Given the description of an element on the screen output the (x, y) to click on. 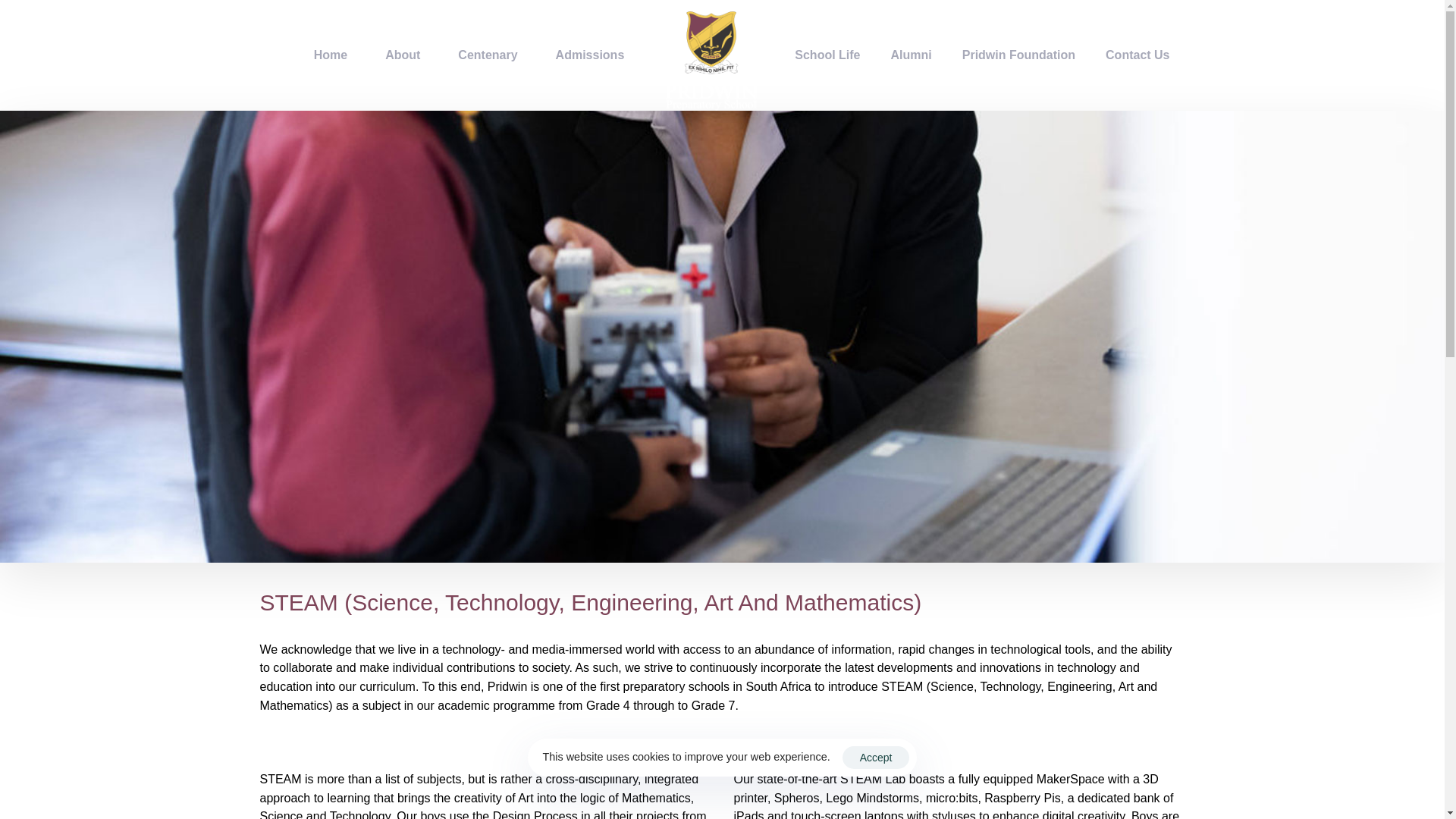
Pridwin Foundation (1018, 55)
Pridwin Logo Vector with white writing (315, 256)
Admissions (590, 55)
School Life (826, 55)
Contact Us (1137, 55)
Centenary (487, 55)
About (402, 55)
Alumni (911, 55)
Home (330, 55)
